Given the description of an element on the screen output the (x, y) to click on. 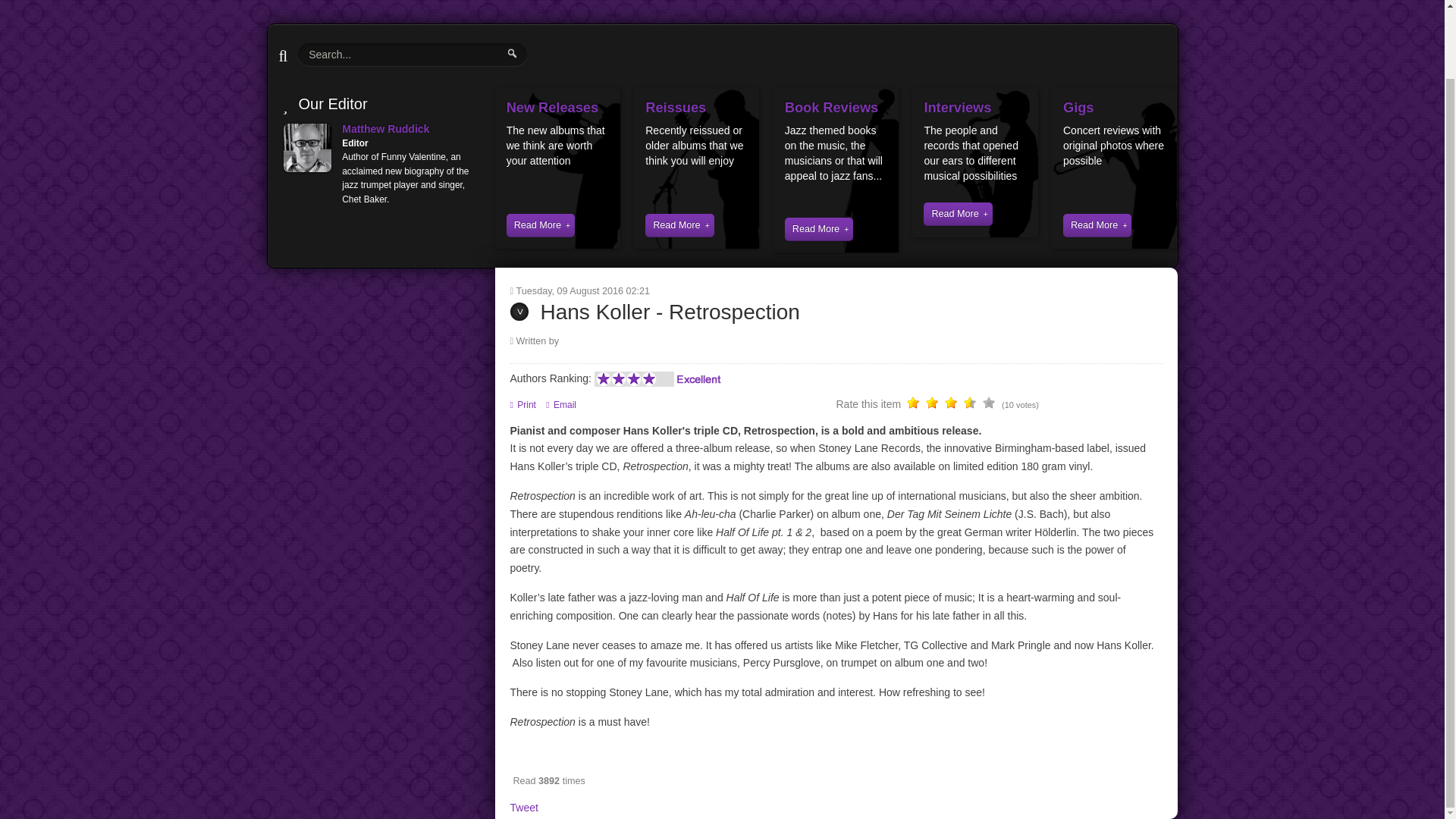
Reissues (675, 107)
Book Reviews (830, 107)
4 (941, 404)
Tweet (523, 807)
1 star out of 5 (913, 404)
3 stars out of 5 (932, 404)
New Releases (552, 107)
2 stars out of 5 (923, 404)
Read More (679, 225)
3 (932, 404)
